Given the description of an element on the screen output the (x, y) to click on. 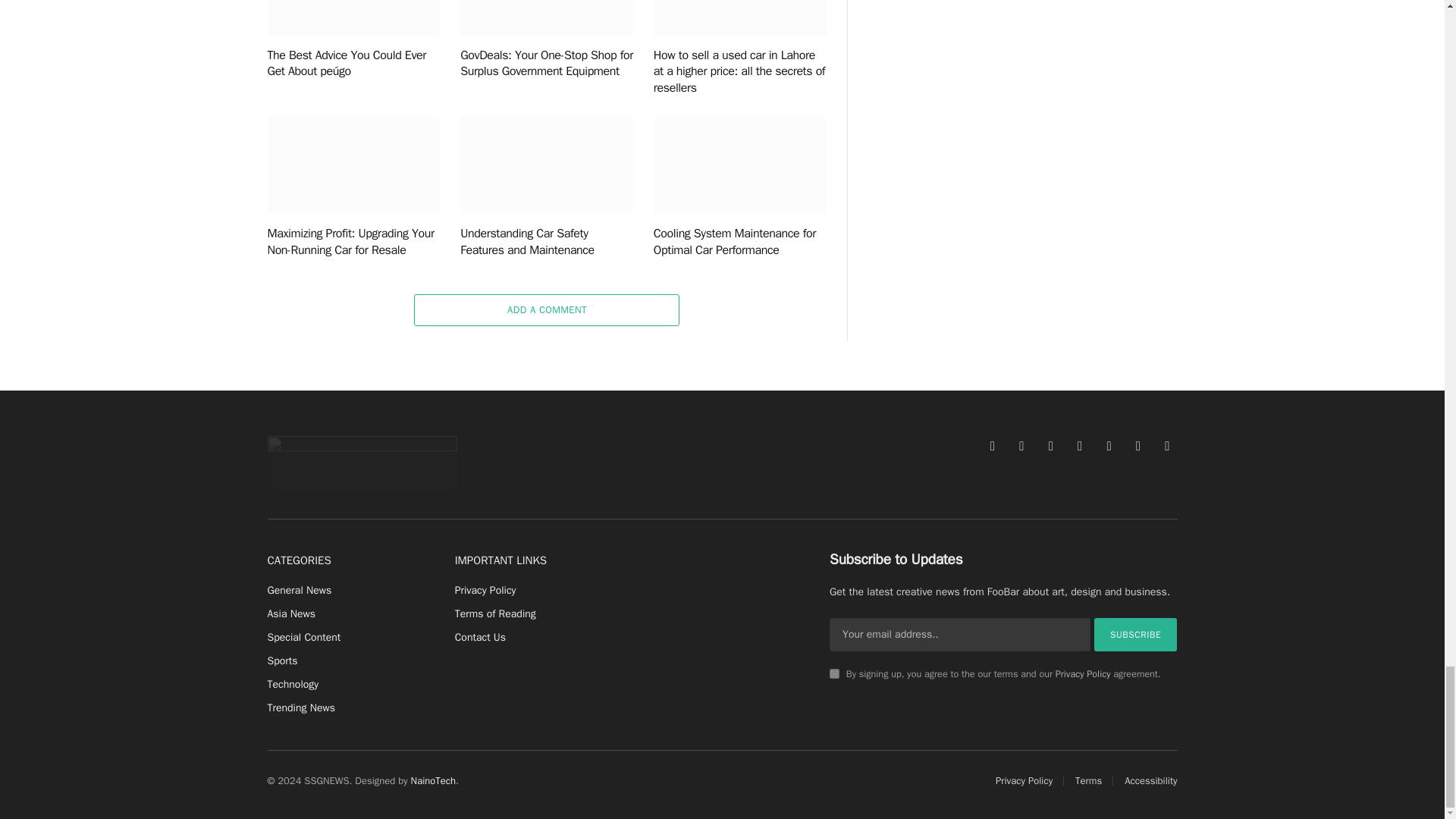
Subscribe (1135, 634)
on (834, 673)
